Given the description of an element on the screen output the (x, y) to click on. 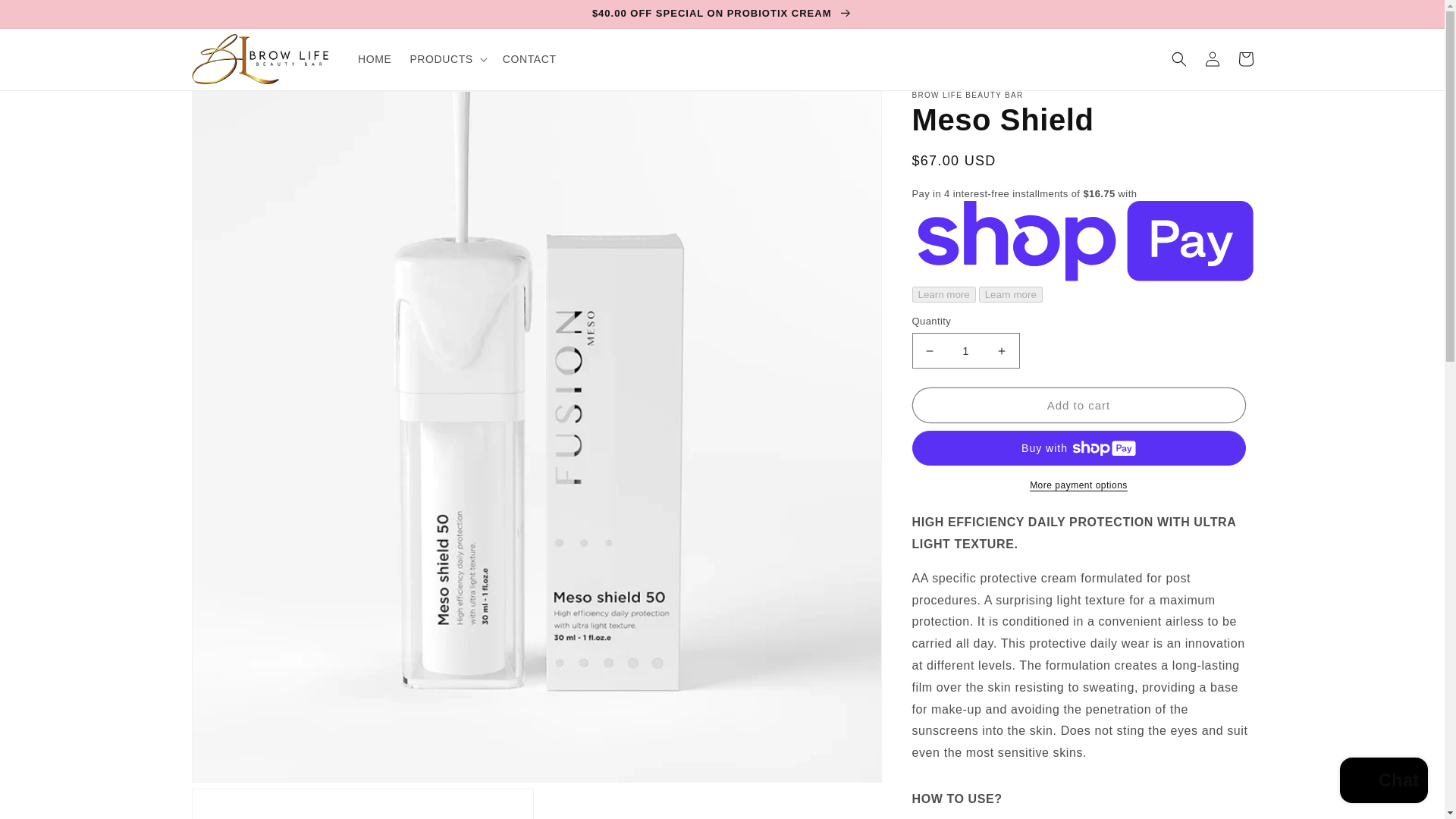
Cart (1245, 59)
Skip to content (45, 17)
Log in (1211, 59)
Increase quantity for Meso Shield (1000, 350)
1 (965, 350)
HOME (374, 59)
Add to cart (1077, 405)
More payment options (1077, 485)
Skip to product information (236, 108)
Decrease quantity for Meso Shield (929, 350)
